Given the description of an element on the screen output the (x, y) to click on. 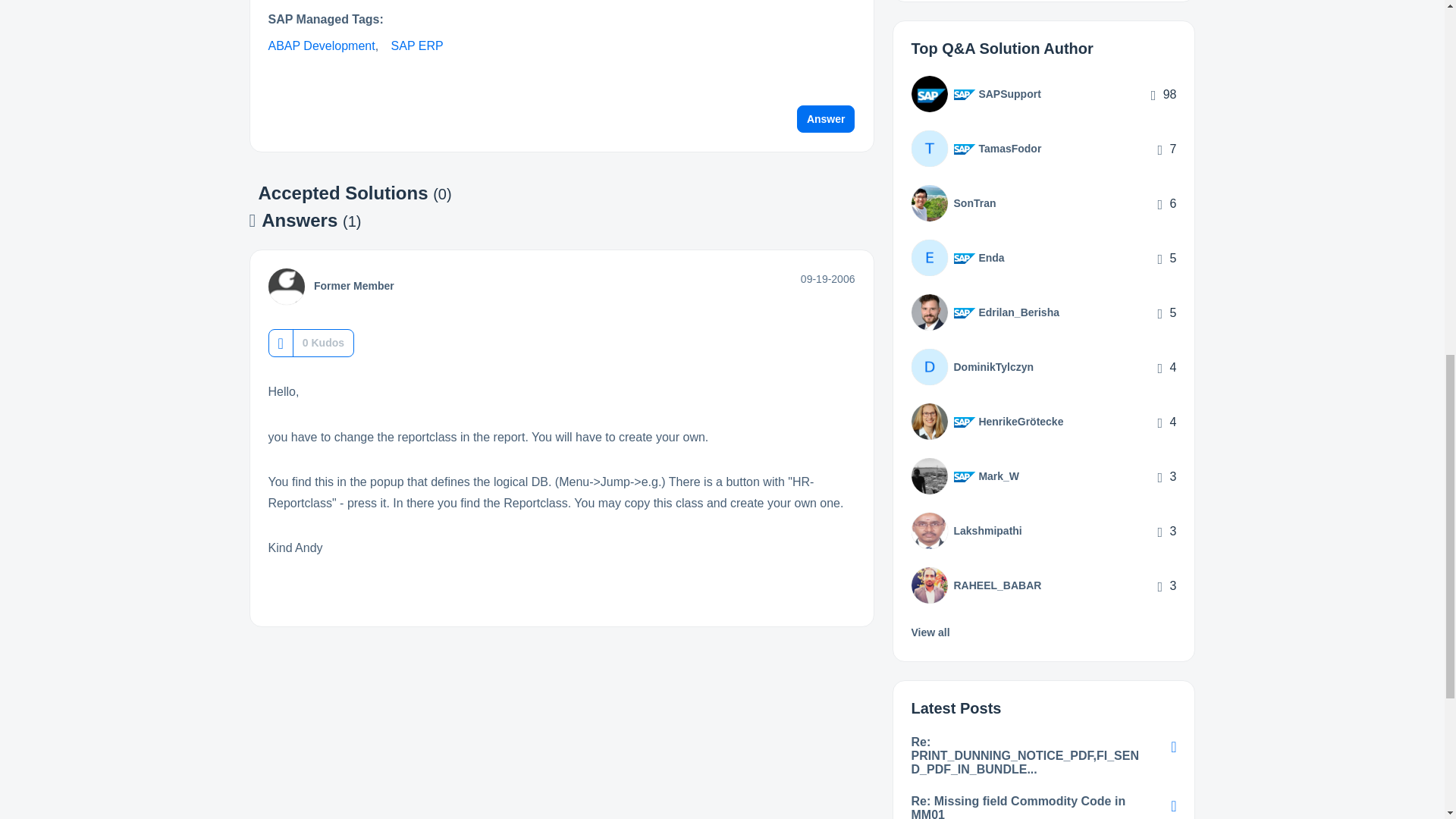
Posted on (828, 278)
SAP ERP (417, 45)
Answer (826, 118)
ABAP Development (321, 45)
The total number of kudos this post has received. (323, 342)
